Given the description of an element on the screen output the (x, y) to click on. 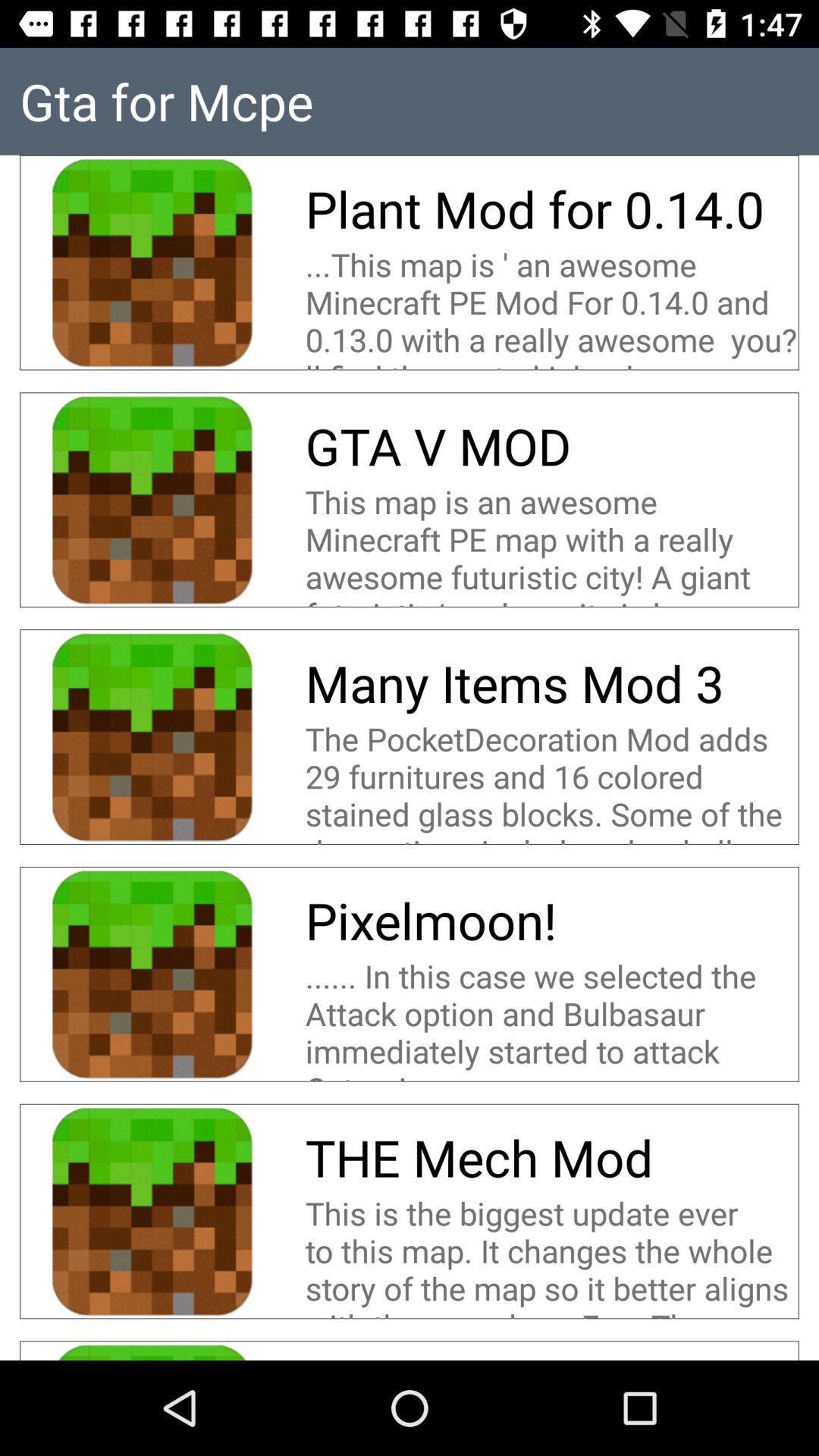
choose the app above the this map is (438, 446)
